Given the description of an element on the screen output the (x, y) to click on. 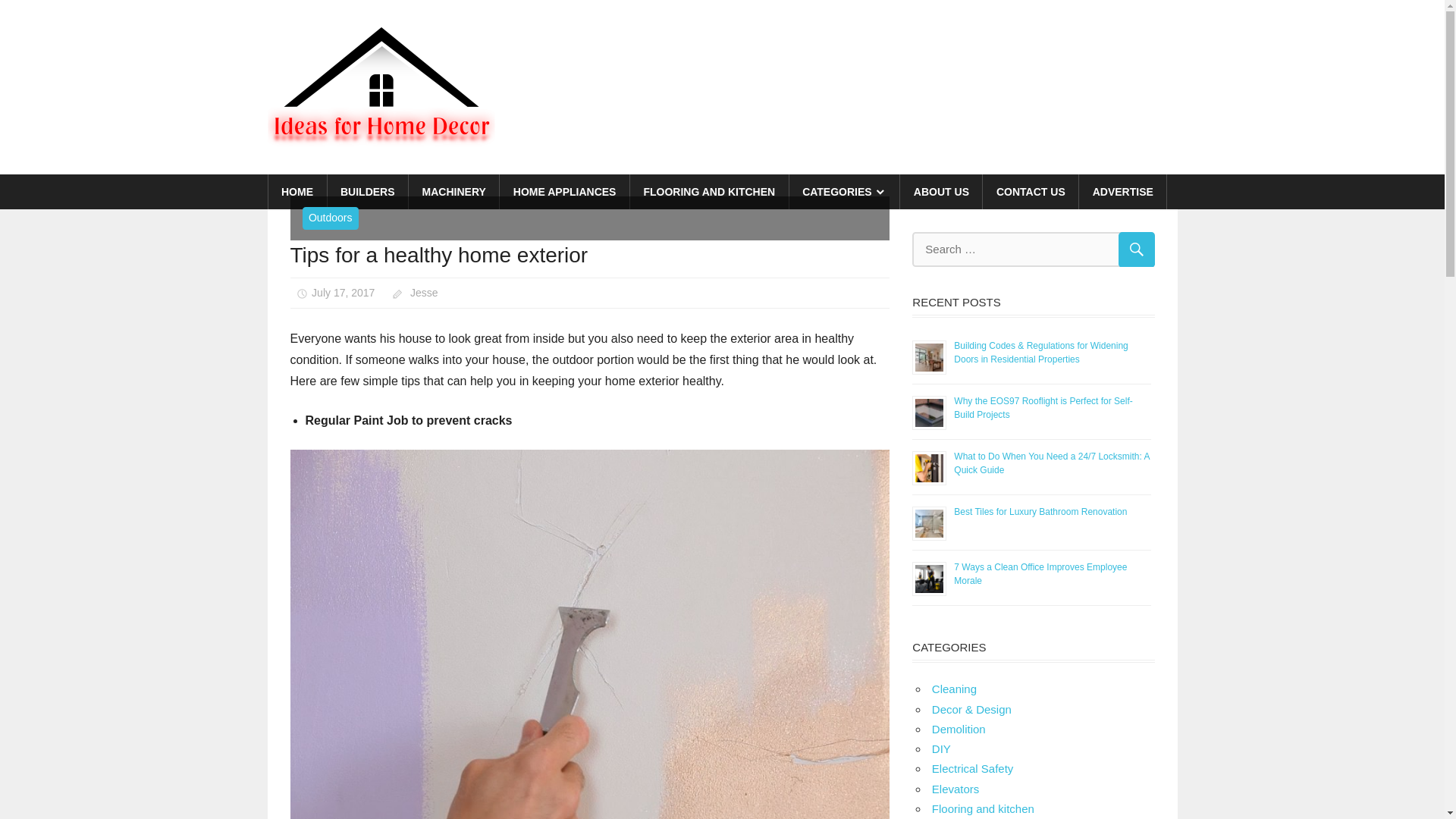
6:38 am (342, 292)
HOME APPLIANCES (564, 191)
Outdoors (329, 218)
Jesse (424, 292)
HOME (297, 191)
BUILDERS (368, 191)
July 17, 2017 (342, 292)
ADVERTISE (1122, 191)
CONTACT US (1030, 191)
